Given the description of an element on the screen output the (x, y) to click on. 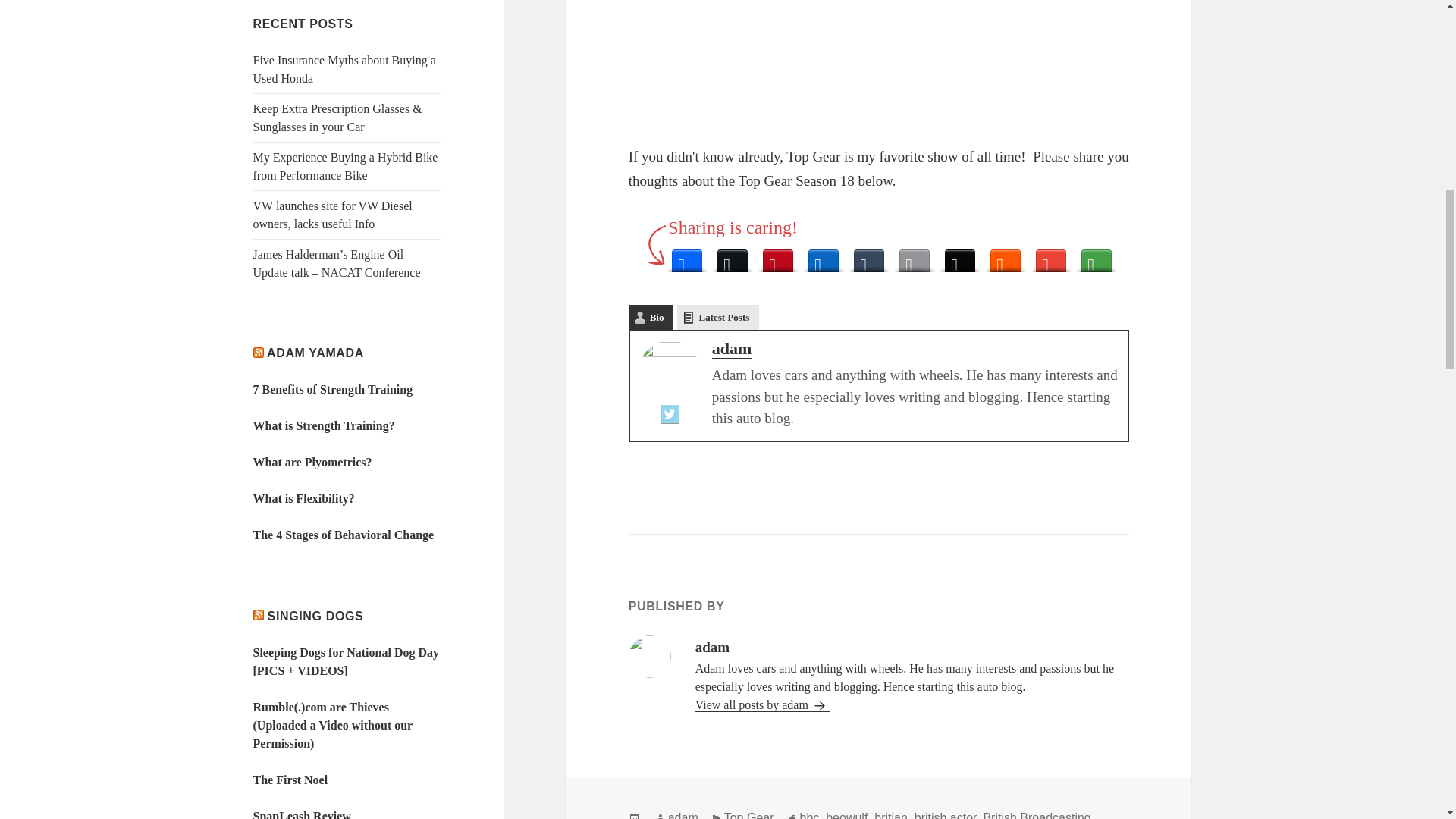
Pinterest (777, 257)
SnapLeash Review (301, 814)
Facebook (686, 257)
What is Strength Training? (323, 425)
7 Benefits of Strength Training (333, 389)
Tumblr (868, 257)
VW launches site for VW Diesel owners, lacks useful Info (332, 214)
ADAM YAMADA (315, 352)
Five Insurance Myths about Buying a Used Honda (344, 69)
My Experience Buying a Hybrid Bike from Performance Bike (345, 165)
LinkedIn (822, 257)
SINGING DOGS (315, 615)
Email This (914, 257)
What is Flexibility? (304, 498)
What are Plyometrics? (312, 461)
